Given the description of an element on the screen output the (x, y) to click on. 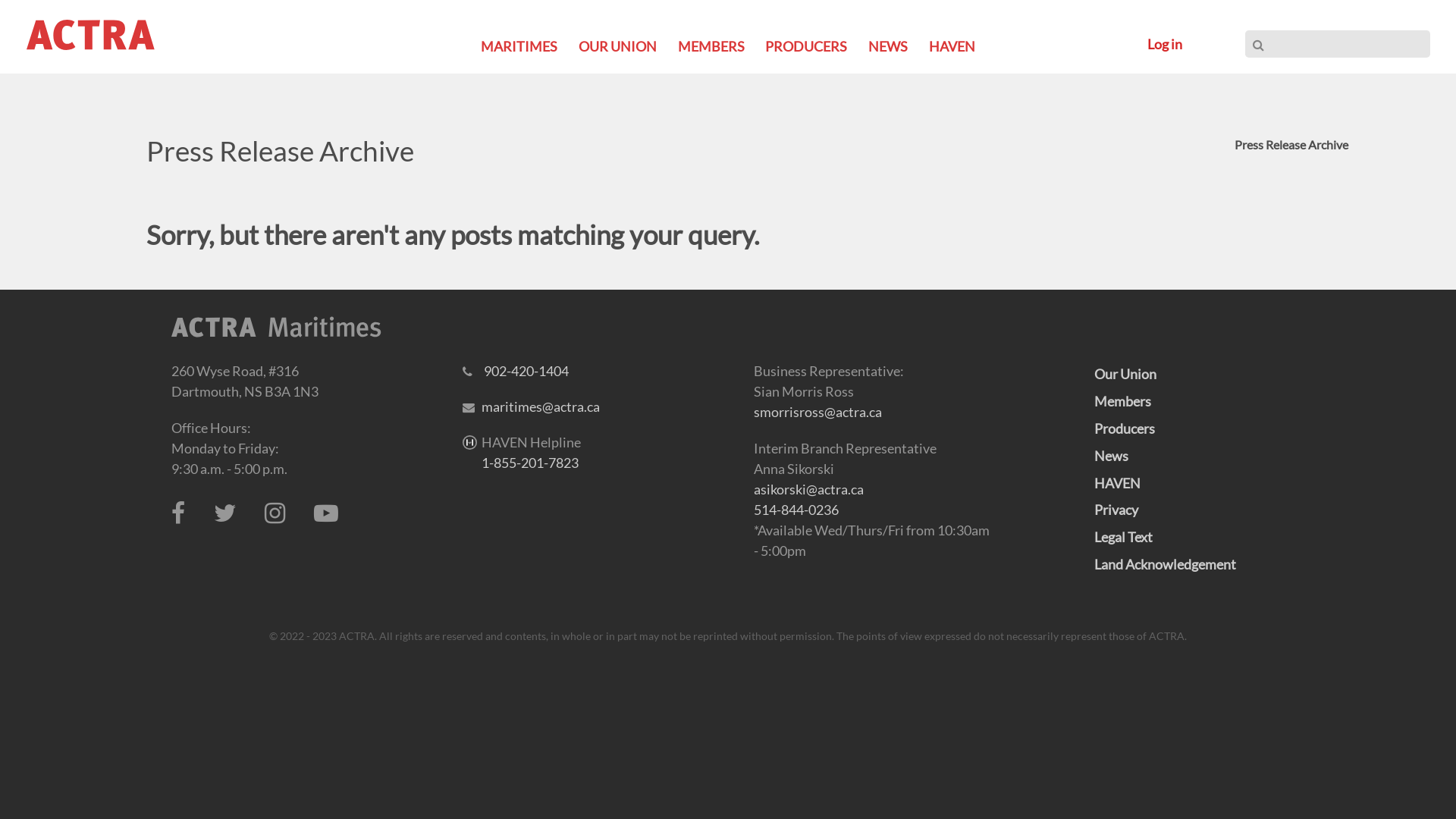
Log in Element type: text (1164, 43)
Members Element type: text (1121, 400)
Legal Text Element type: text (1122, 536)
HAVEN Element type: text (1116, 482)
HAVEN Element type: text (952, 46)
Land Acknowledgement Element type: text (1164, 563)
Producers Element type: text (1123, 428)
smorrisross@actra.ca Element type: text (817, 411)
Our Union Element type: text (1124, 373)
News Element type: text (1110, 455)
Privacy Element type: text (1115, 509)
1-855-201-7823 Element type: text (529, 462)
514-844-0236 Element type: text (795, 509)
maritimes@actra.ca Element type: text (540, 406)
902-420-1404 Element type: text (525, 370)
asikorski@actra.ca Element type: text (808, 488)
